Given the description of an element on the screen output the (x, y) to click on. 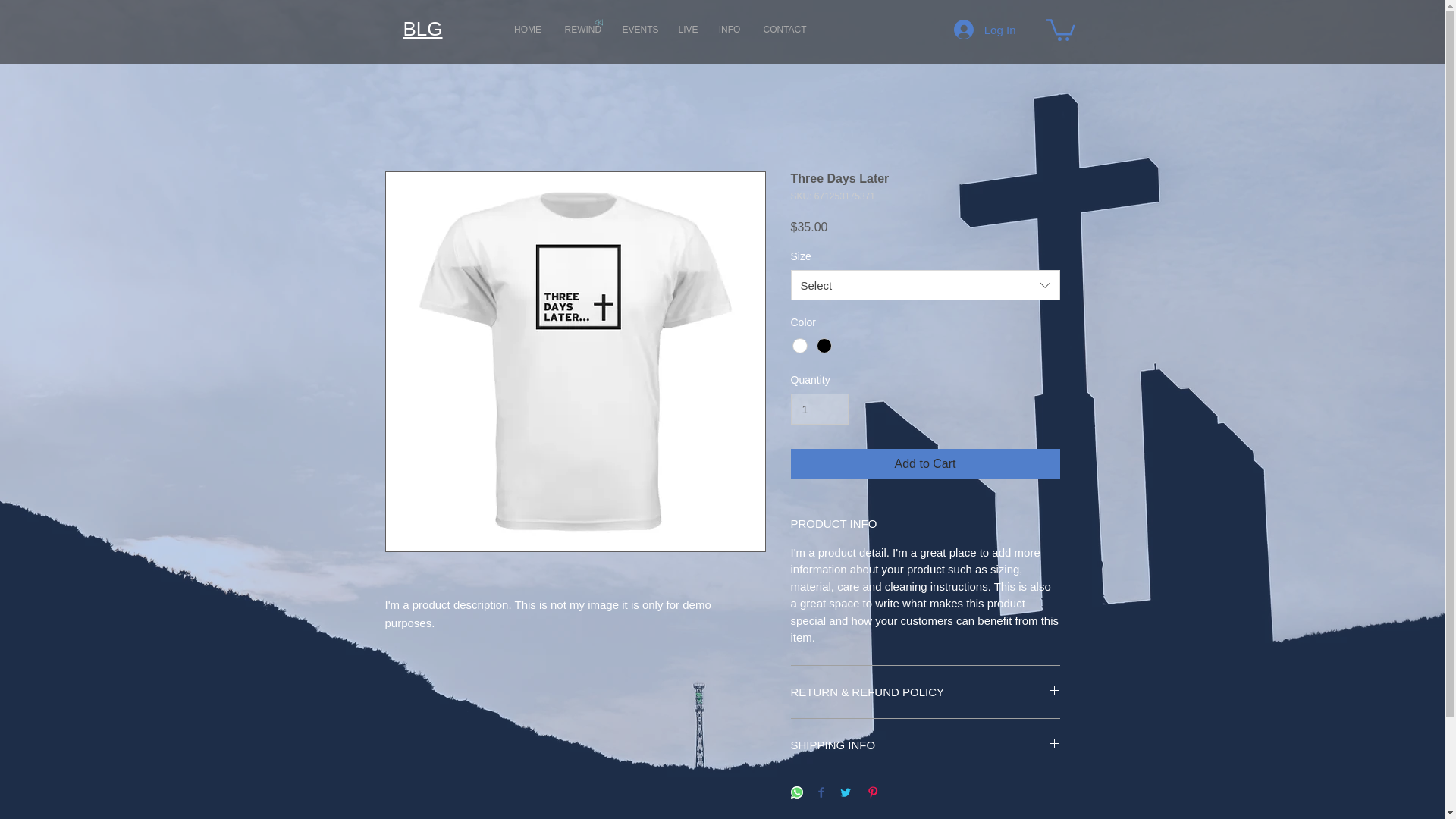
Log In (984, 29)
CONTACT (784, 29)
EVENTS (638, 29)
INFO (728, 29)
LIVE (686, 29)
PRODUCT INFO (924, 523)
Add to Cart (924, 463)
1 (818, 409)
REWIND (582, 29)
HOME (527, 29)
